Given the description of an element on the screen output the (x, y) to click on. 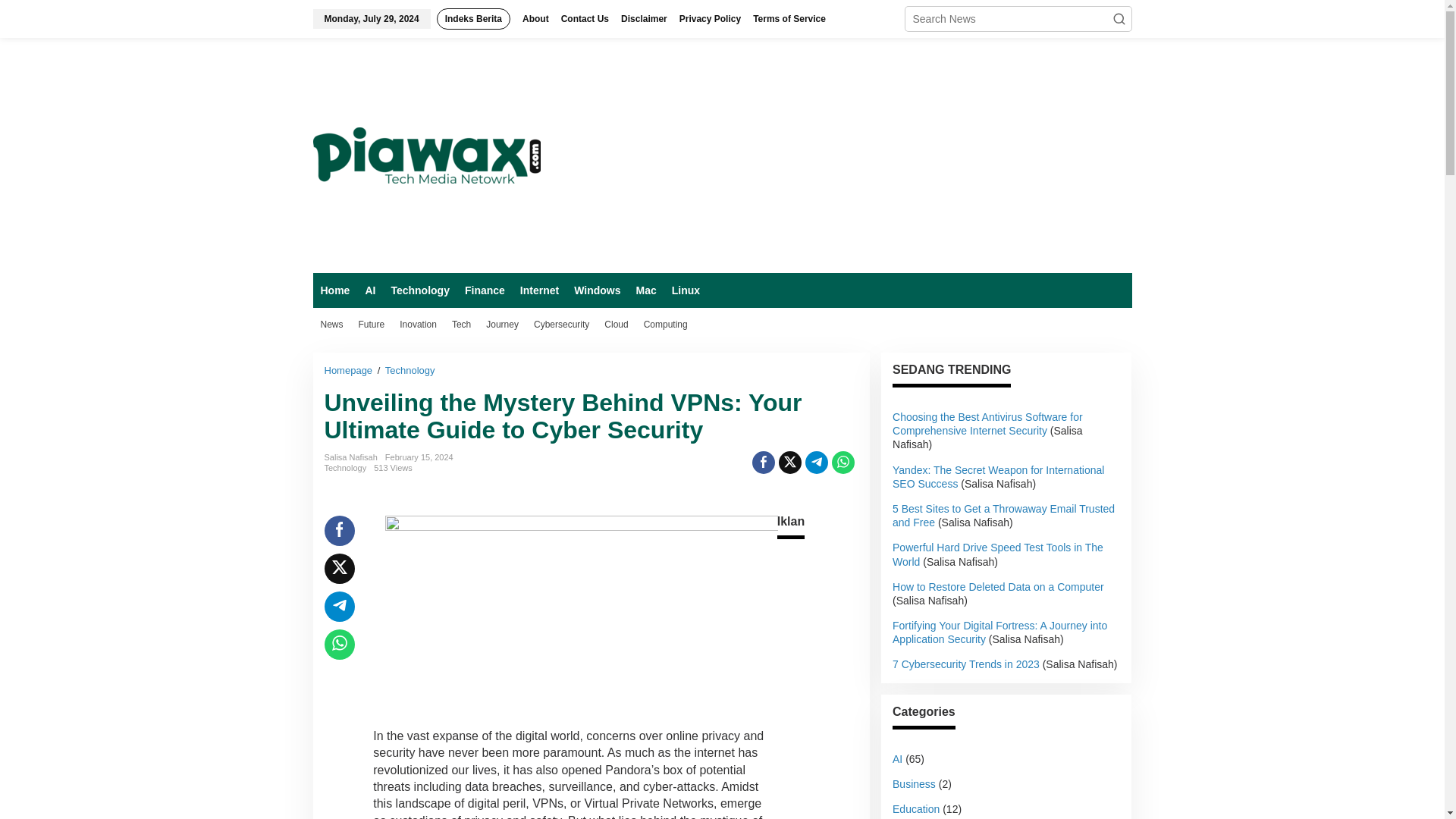
Privacy Policy (709, 18)
Advertisement (855, 155)
Piawax (426, 155)
Technology (410, 369)
Technology (419, 289)
Indeks Berita (473, 18)
About (535, 18)
Mac (645, 289)
Permalink to: Salisa Nafisah (350, 456)
Homepage (349, 369)
Inovation (417, 324)
Share this (763, 462)
Tech (461, 324)
Telegram Share (816, 462)
